Given the description of an element on the screen output the (x, y) to click on. 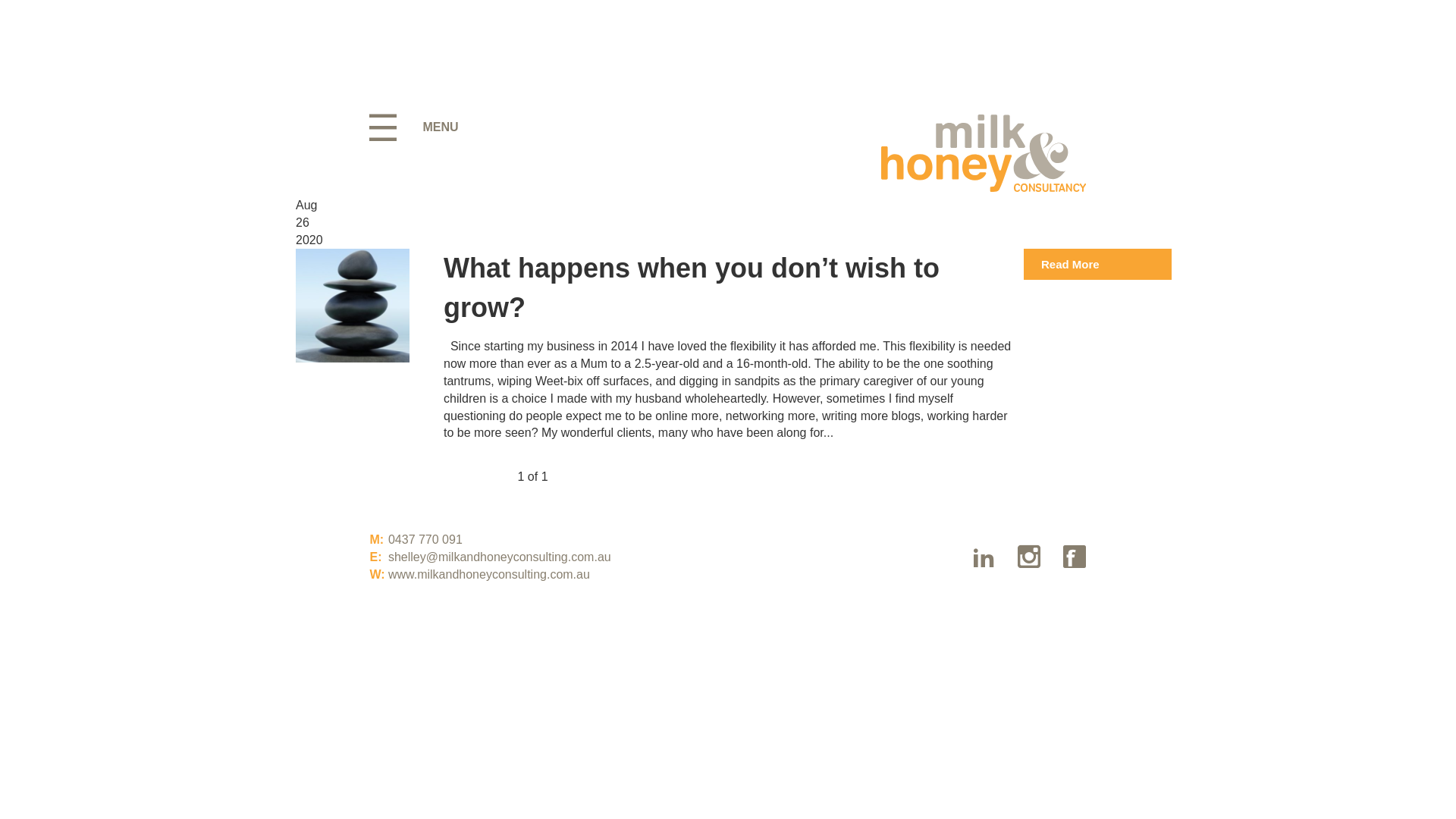
Instagram Element type: text (1028, 556)
Milk & Honey Element type: text (983, 152)
shelley@milkandhoneyconsulting.com.au Element type: text (499, 556)
LinkedIn Element type: text (983, 557)
MENU Element type: text (419, 127)
Facebook Element type: text (1074, 556)
Read More Element type: text (1097, 263)
www.milkandhoneyconsulting.com.au Element type: text (488, 573)
